Given the description of an element on the screen output the (x, y) to click on. 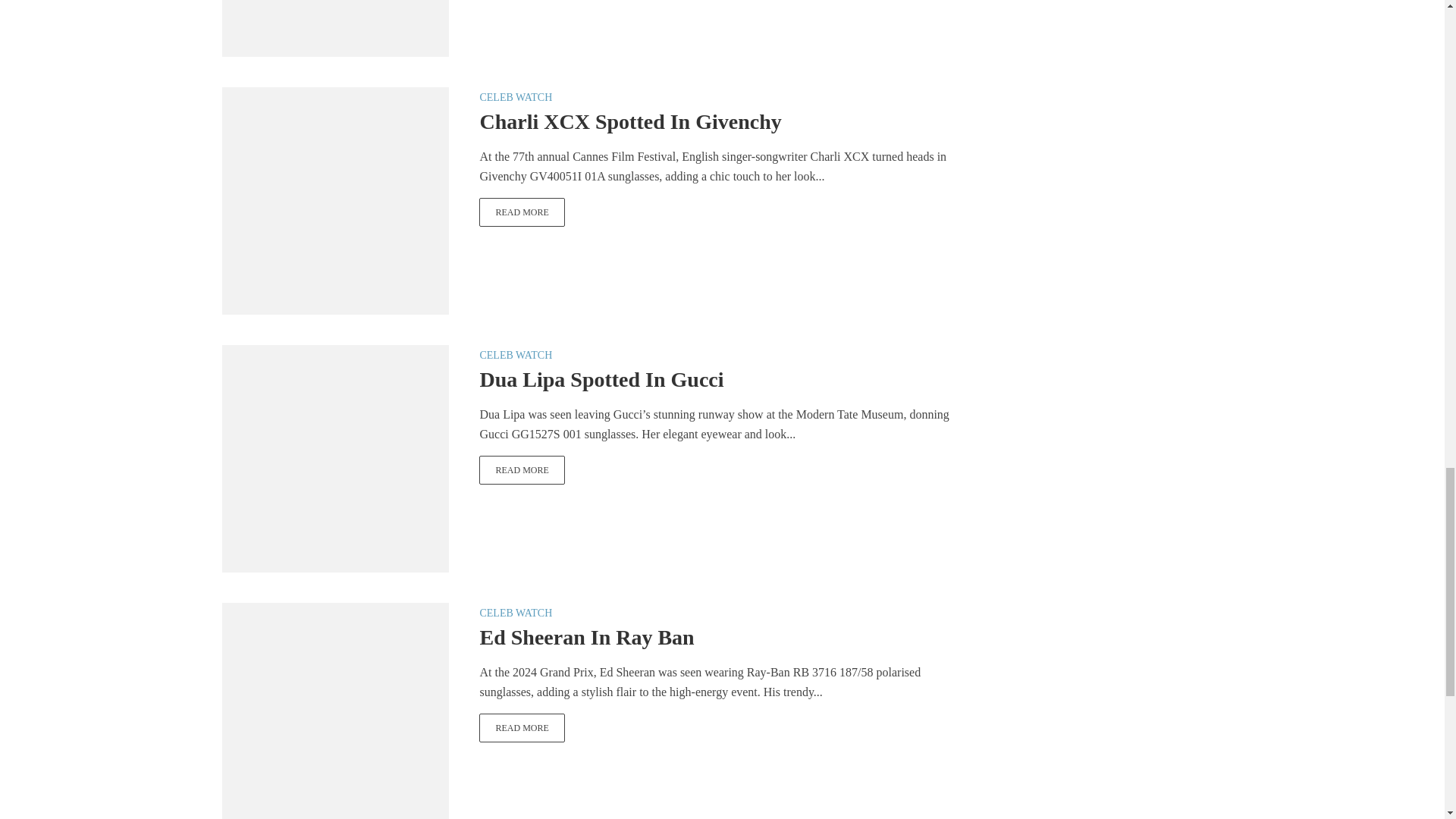
Ed Sheeran In Ray Ban (521, 727)
Charli XCX Spotted In Givenchy (334, 199)
Charli XCX Spotted In Givenchy (521, 212)
Ed Sheeran In Ray Ban (334, 715)
Dua Lipa Spotted In Gucci (521, 469)
Dua Lipa Spotted In Gucci (334, 457)
